Given the description of an element on the screen output the (x, y) to click on. 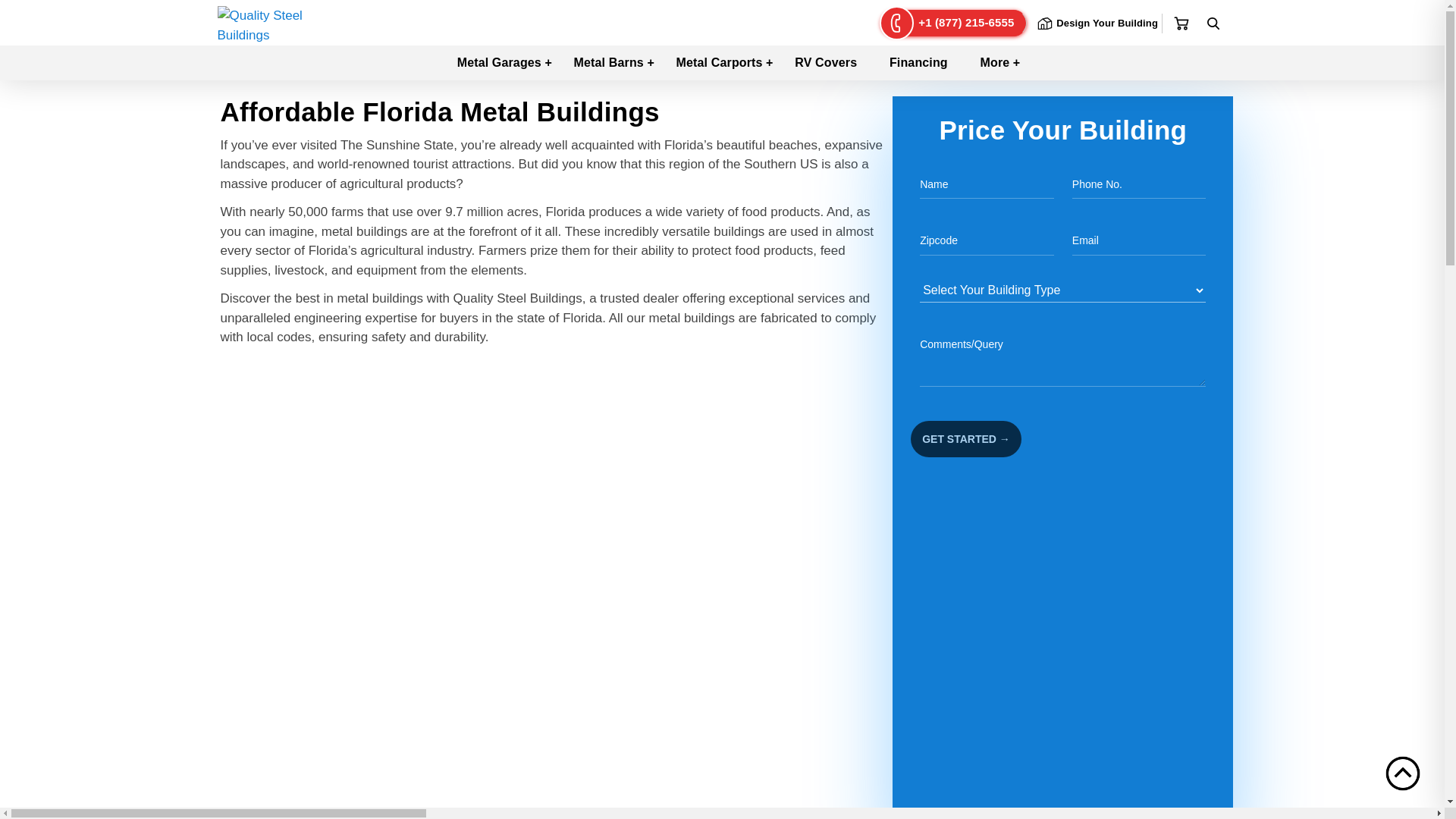
More (995, 62)
Metal Garages (498, 62)
Metal Barns (608, 62)
Quality Steel Buildings (261, 24)
Metal Carports (719, 62)
Design Your Building (1095, 23)
View your shopping cart (1181, 23)
RV Covers (825, 62)
Financing (918, 62)
